Given the description of an element on the screen output the (x, y) to click on. 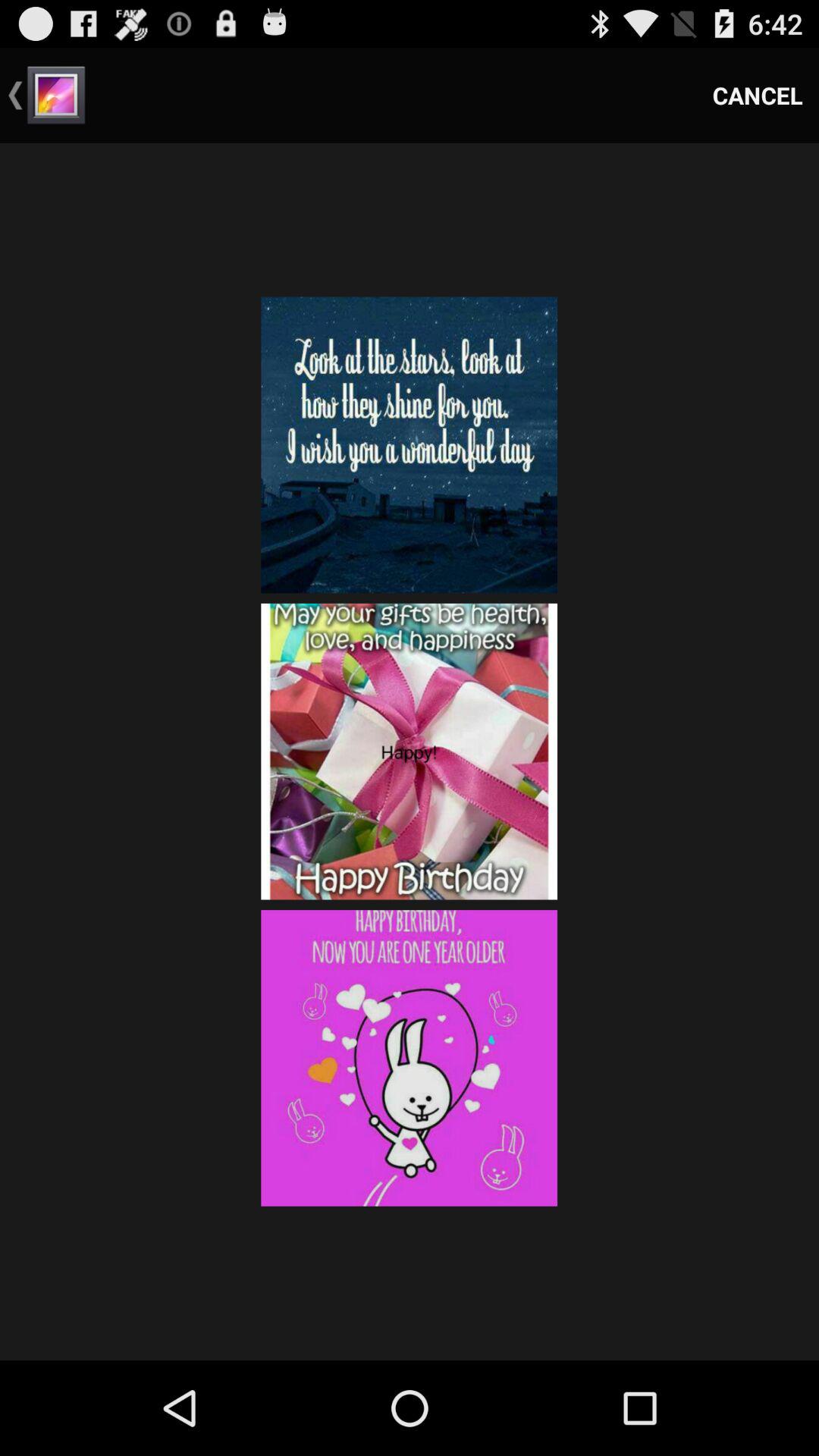
turn on cancel item (757, 95)
